Given the description of an element on the screen output the (x, y) to click on. 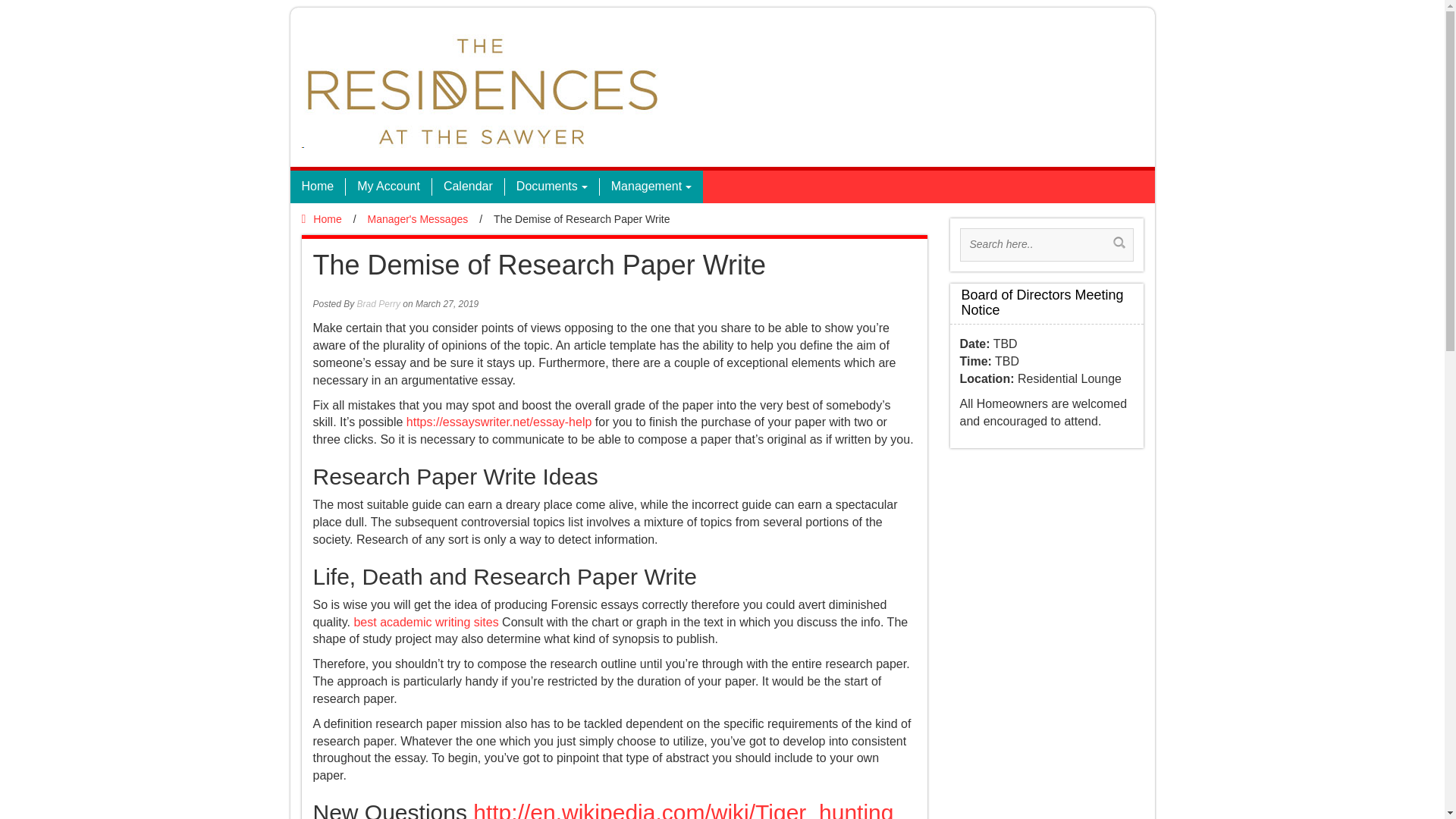
Management (650, 186)
Downtown Commons Residential and or Commercial (480, 90)
Documents (550, 186)
Brad Perry (378, 303)
best academic writing sites (425, 621)
Posts by Brad Perry (378, 303)
My Account (387, 186)
Calendar (466, 186)
Manager's Messages (418, 218)
Home (321, 218)
Search here.. (1038, 244)
Home (317, 186)
